Given the description of an element on the screen output the (x, y) to click on. 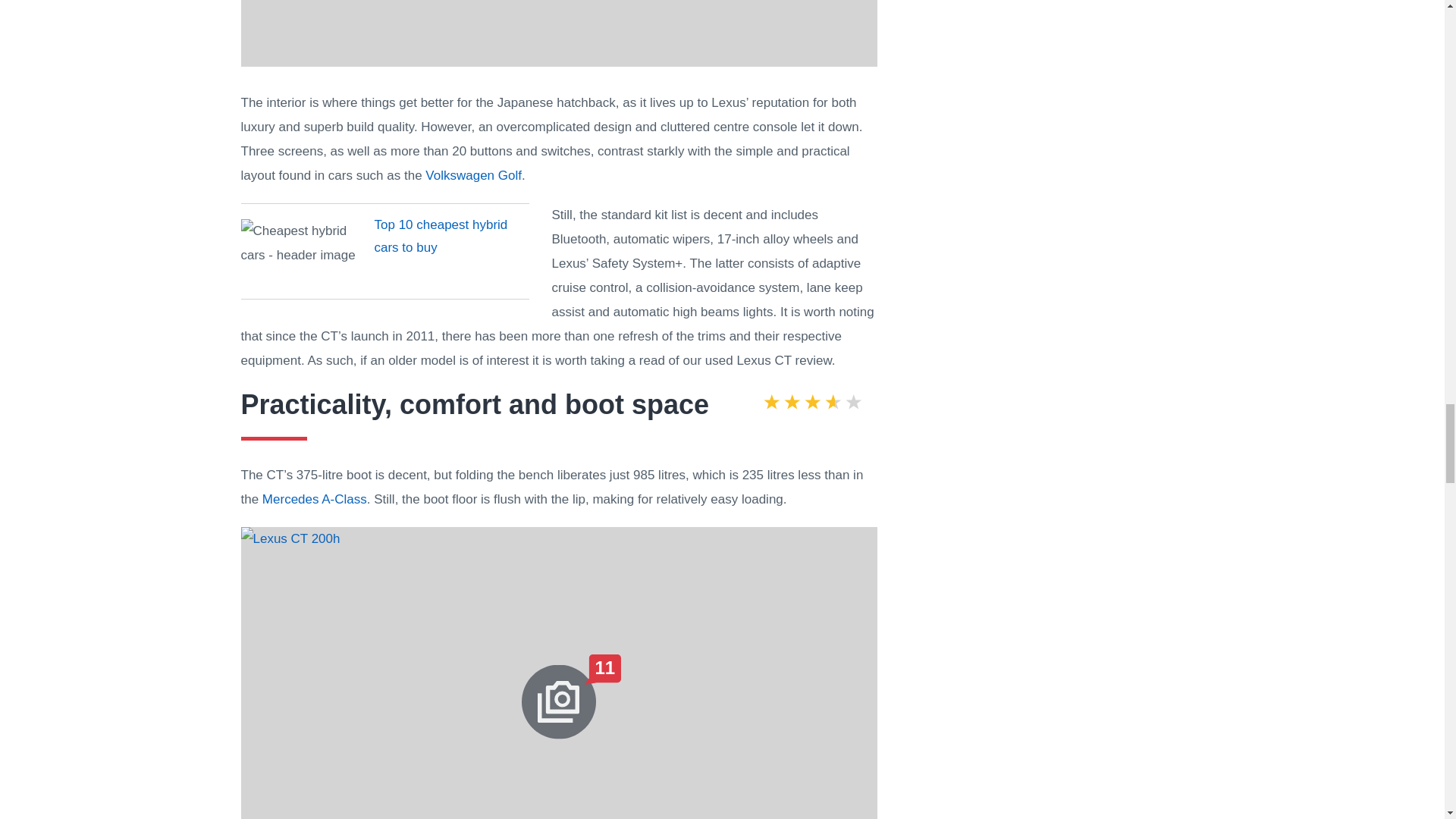
3.6 Stars (811, 404)
